Given the description of an element on the screen output the (x, y) to click on. 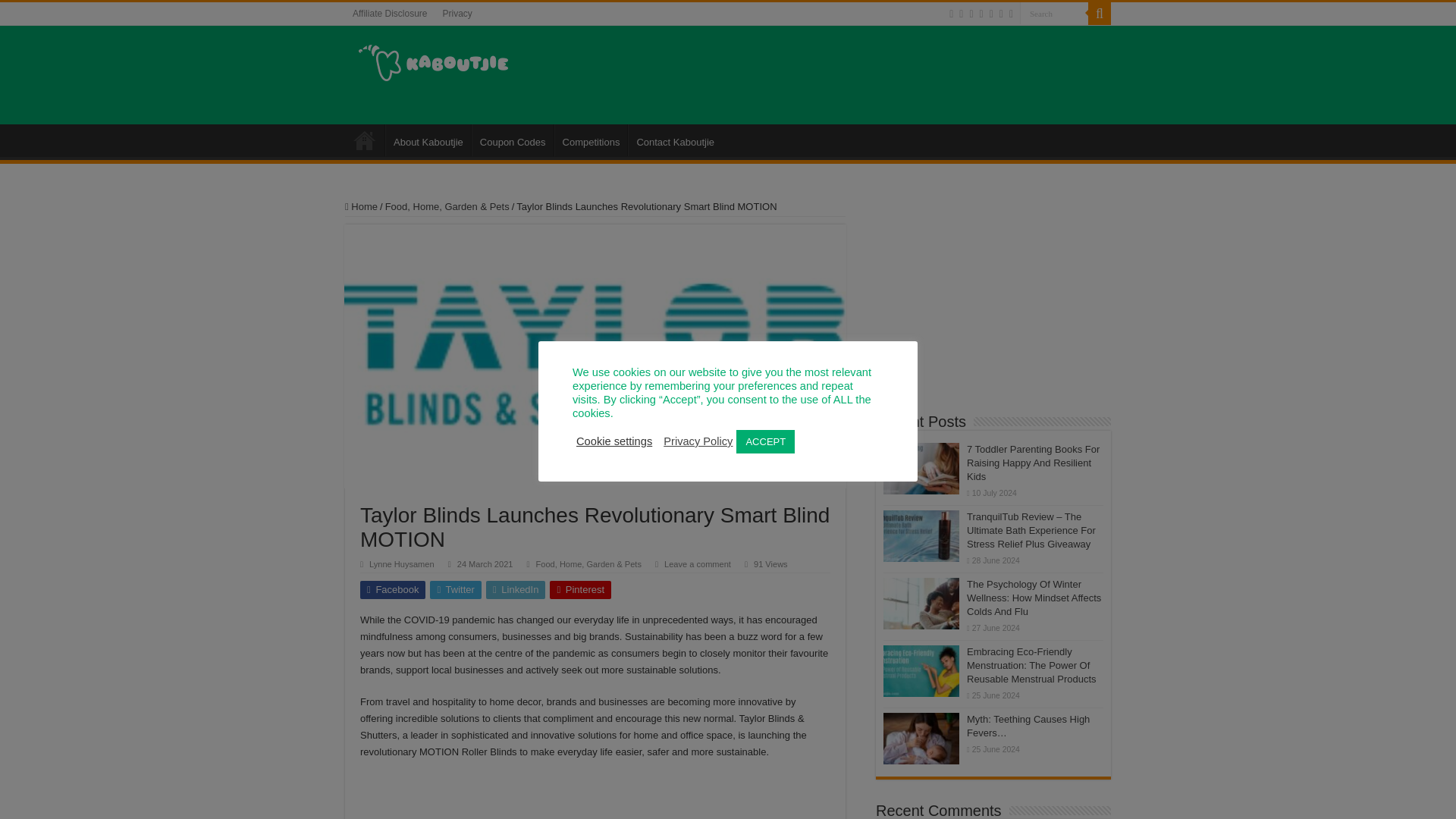
Search (1053, 13)
Lynne Huysamen (401, 563)
Home (364, 140)
Home (361, 206)
Twitter (454, 589)
Leave a comment (696, 563)
LinkedIn (516, 589)
Privacy (456, 13)
Search (1053, 13)
Competitions (590, 140)
Coupon Codes (512, 140)
Search (1053, 13)
Search (1098, 13)
Contact Kaboutjie (674, 140)
About Kaboutjie (427, 140)
